Given the description of an element on the screen output the (x, y) to click on. 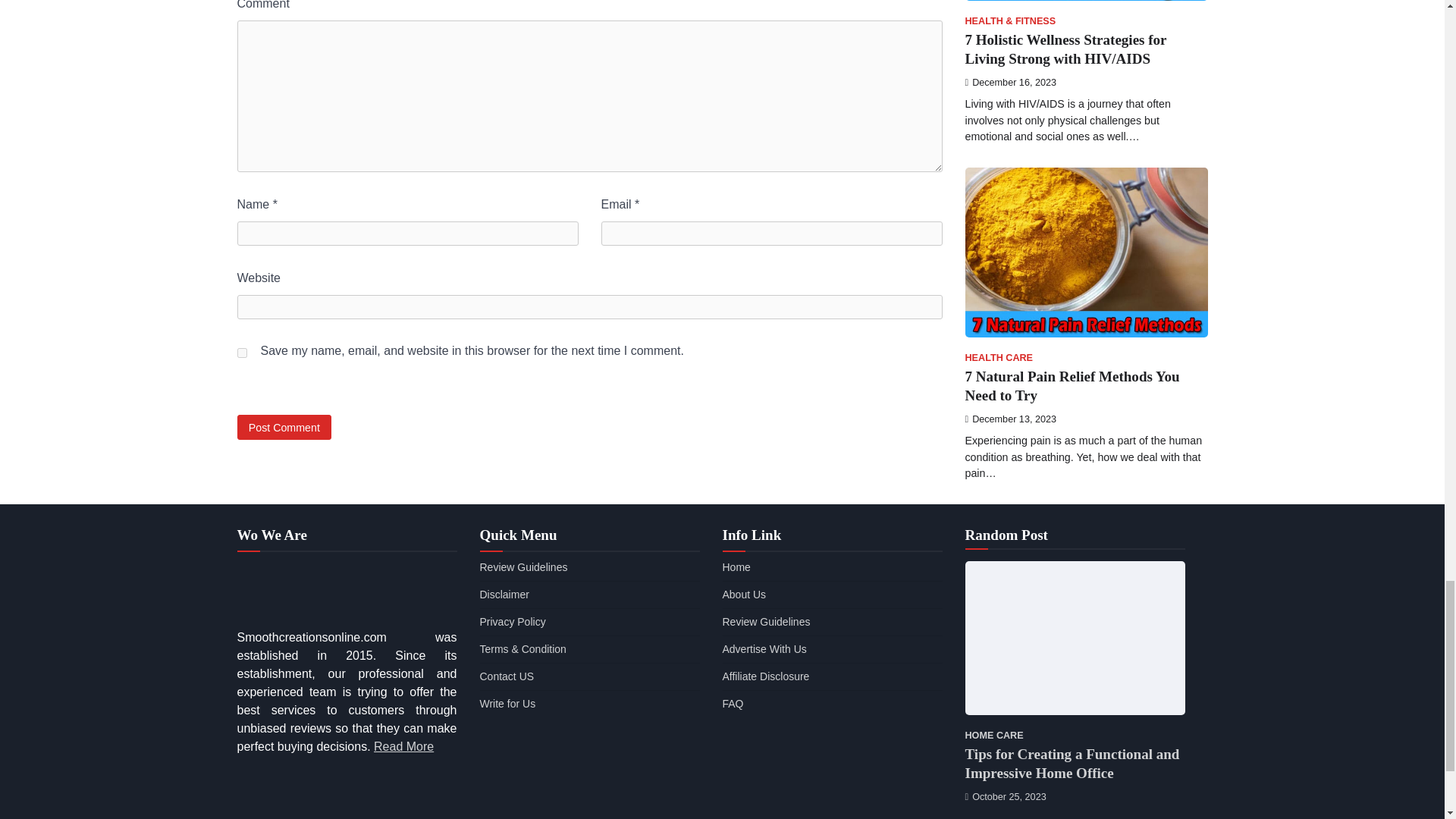
Post Comment (283, 426)
Post Comment (283, 426)
yes (240, 352)
